Given the description of an element on the screen output the (x, y) to click on. 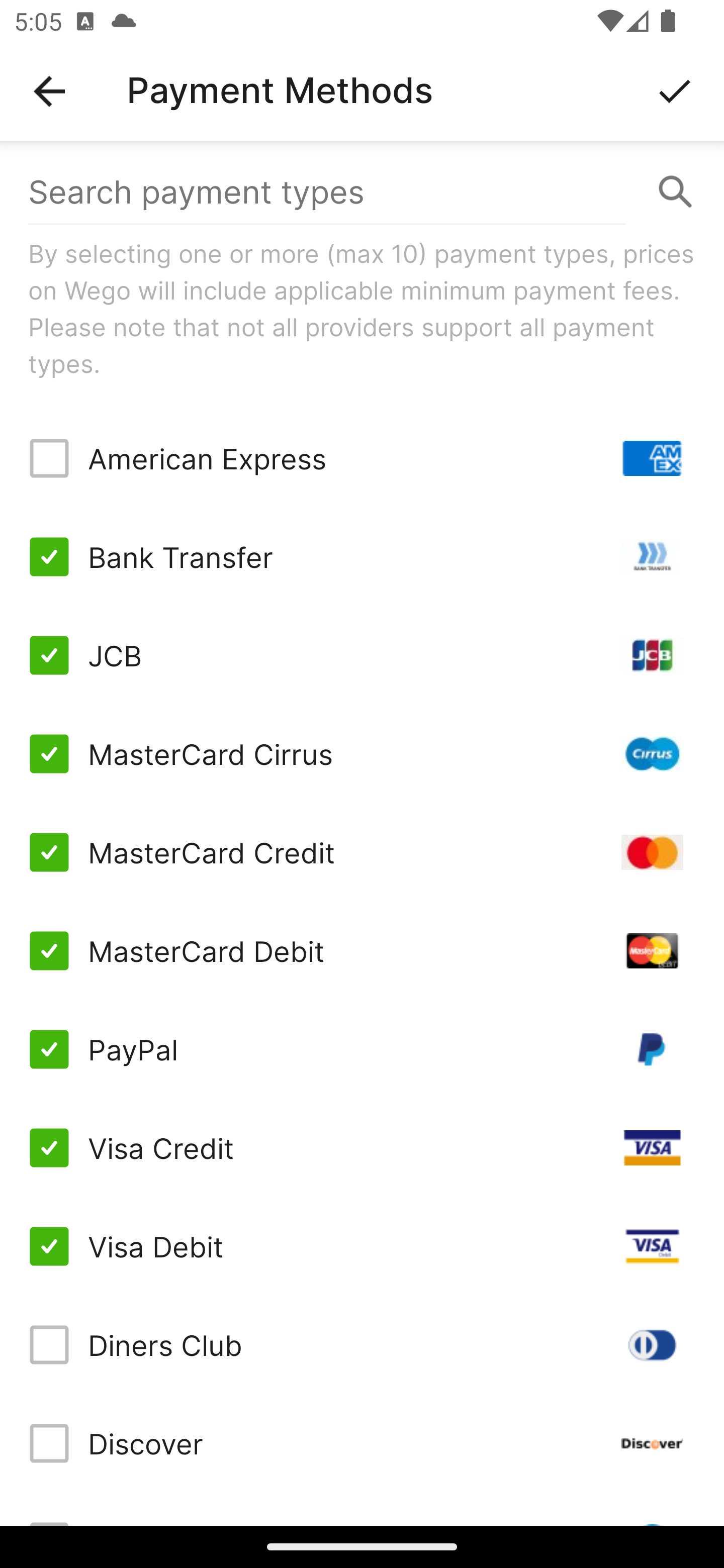
Search payment types  (361, 191)
American Express (362, 458)
Bank Transfer (362, 557)
JCB (362, 655)
MasterCard Cirrus (362, 753)
MasterCard Credit (362, 851)
MasterCard Debit (362, 950)
PayPal (362, 1049)
Visa Credit (362, 1147)
Visa Debit (362, 1245)
Diners Club (362, 1344)
Discover (362, 1442)
